Given the description of an element on the screen output the (x, y) to click on. 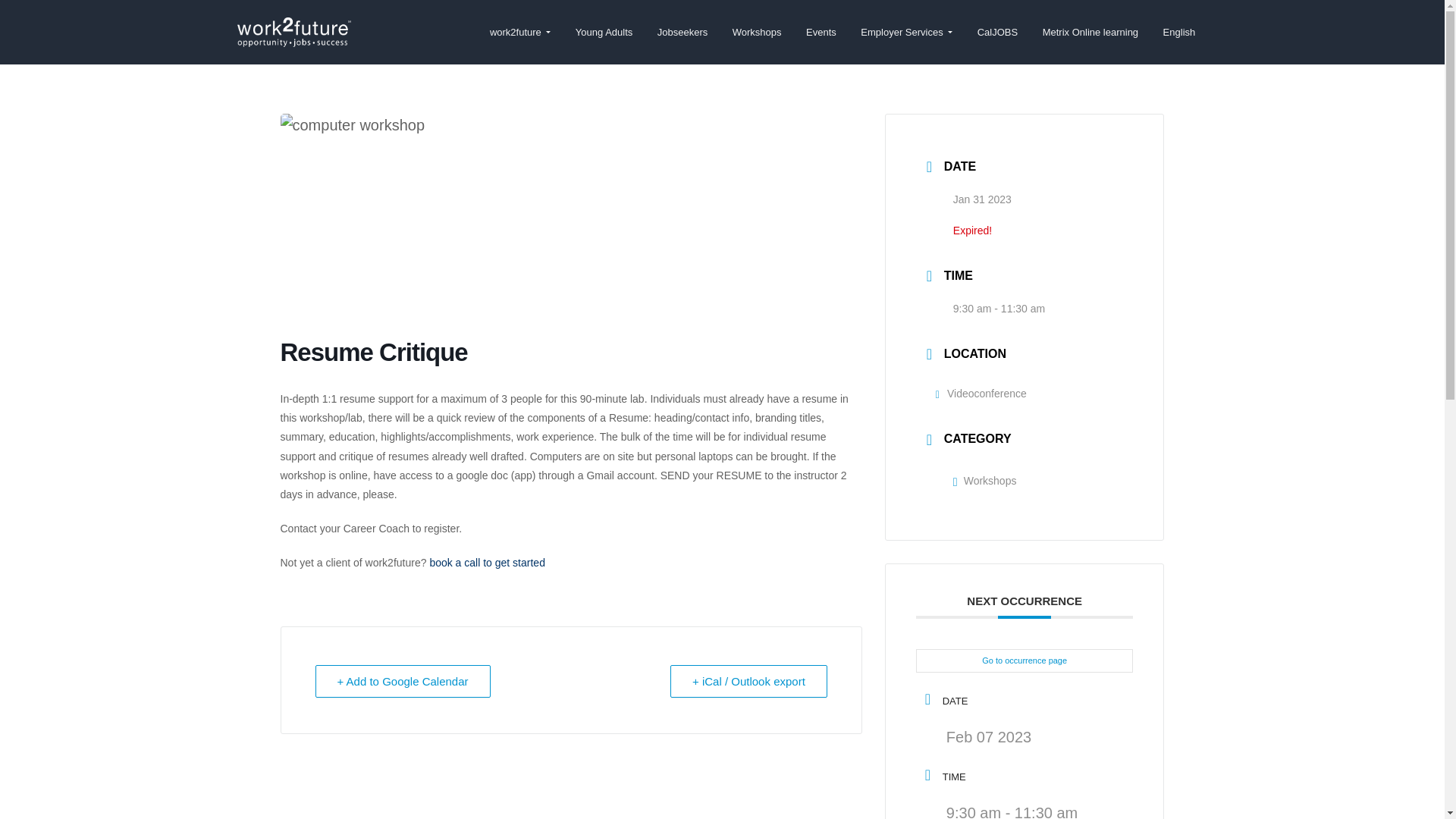
book a call to get started (486, 562)
Events (820, 31)
Jobseekers (682, 31)
work2future (272, 52)
English (1178, 31)
Workshops (756, 31)
CalJOBS (996, 31)
Metrix Online learning (1089, 31)
Young Adults (604, 31)
Go to occurrence page (1024, 660)
